Given the description of an element on the screen output the (x, y) to click on. 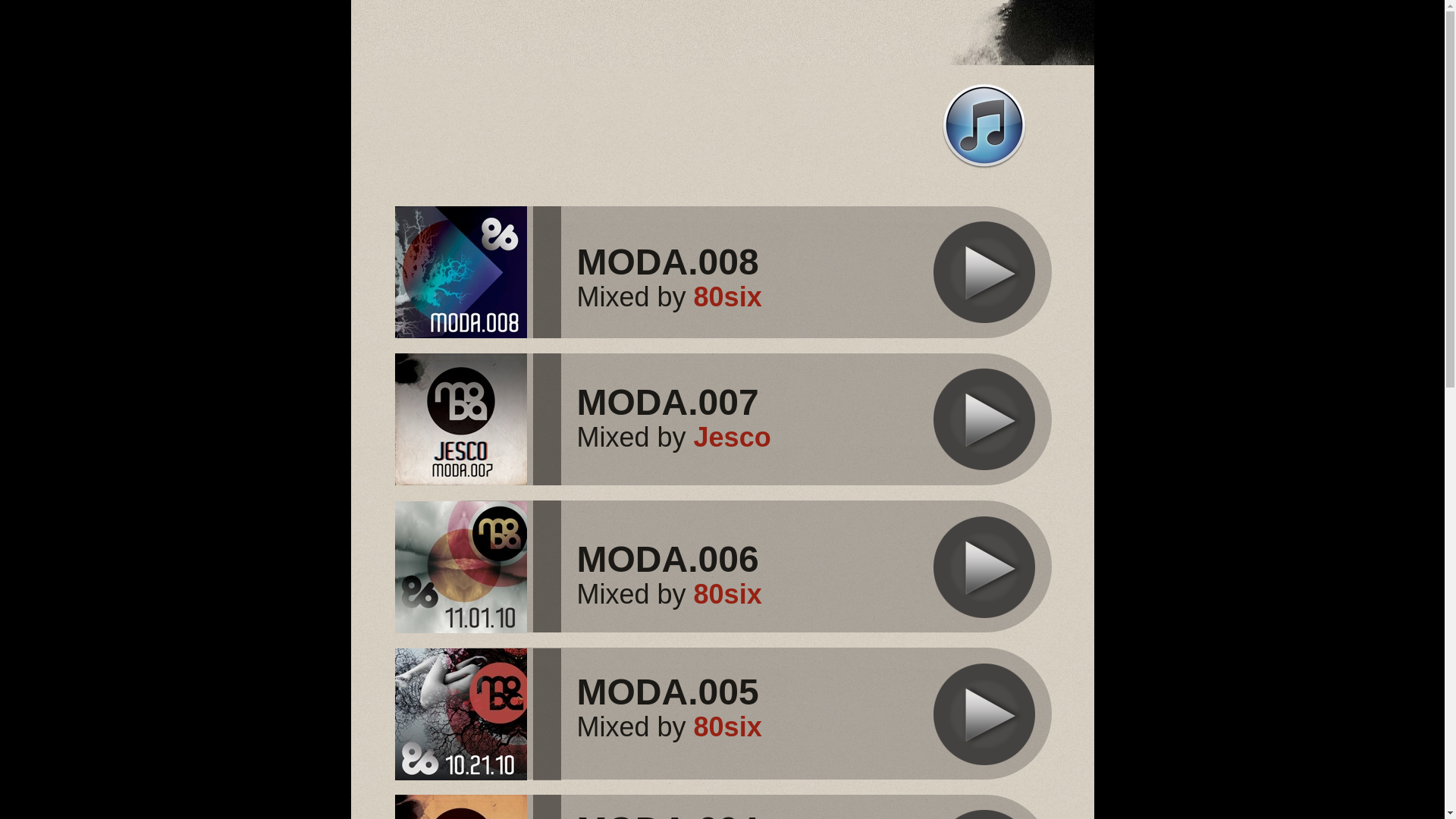
http://www.moda.bz/music/media/MODA.006 Podcast PREVIEW.mp3 Element type: hover (983, 617)
http://itunes.apple.com/us/podcast/www-moda-bz/id137312164 Element type: hover (983, 166)
http://www.moda.bz/music/media/MODA.007 Podcast PREVIEW.mp3 Element type: hover (983, 469)
http://www.moda.bz/music/media/MODA.005 Podcast PREVIEW.mp3 Element type: hover (983, 764)
http://www.moda.bz/music/media/MODA.008 Podcast PREVIEW.mp3 Element type: hover (983, 322)
